Given the description of an element on the screen output the (x, y) to click on. 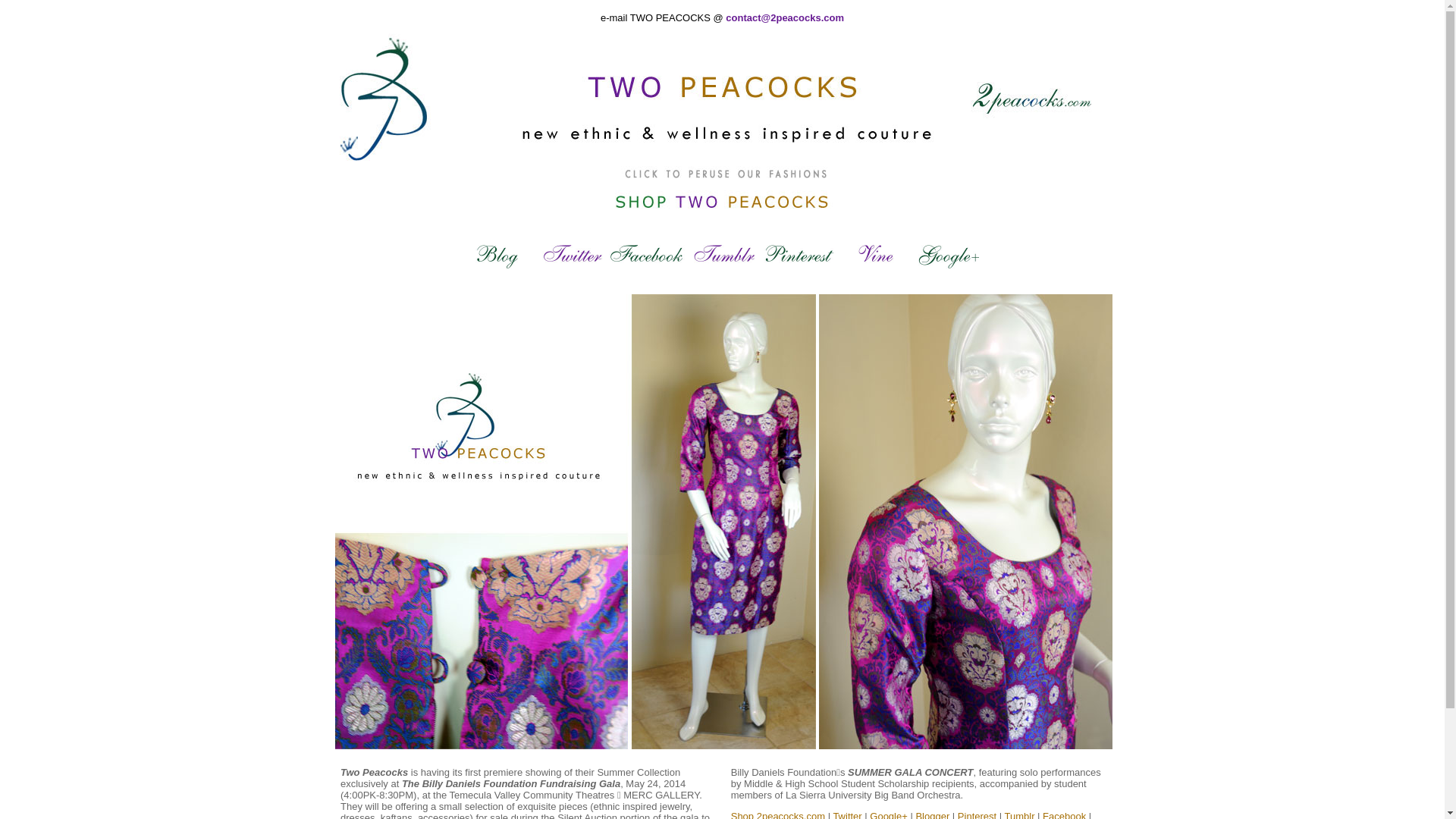
contact@2peacocks.com Element type: text (784, 17)
